Given the description of an element on the screen output the (x, y) to click on. 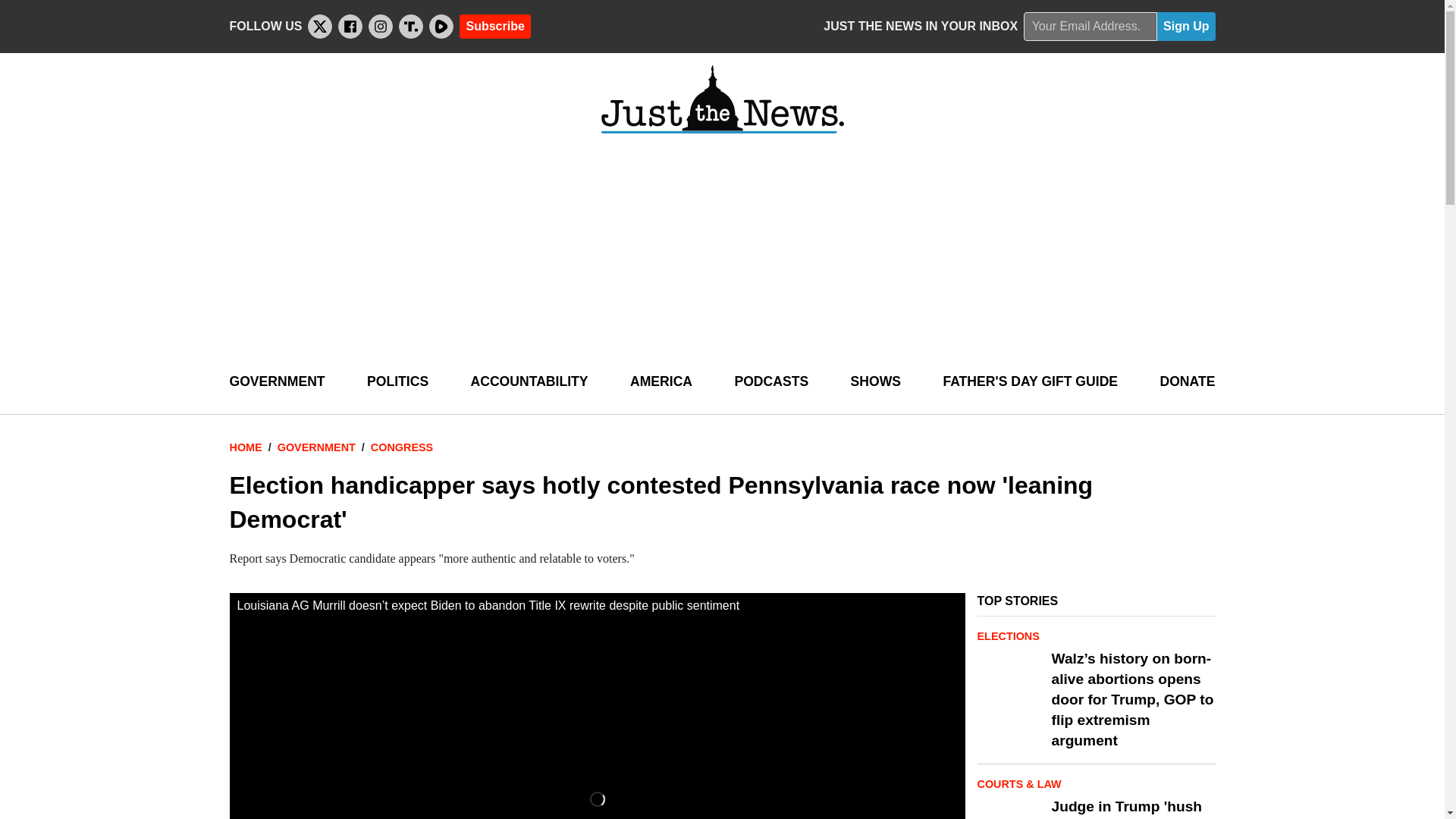
Sign Up (1185, 26)
FATHER'S DAY GIFT GUIDE (1030, 381)
ACCOUNTABILITY (529, 381)
DONATE (1186, 381)
POLITICS (397, 381)
Sign Up (1185, 26)
Subscribe (494, 26)
AMERICA (661, 381)
